Given the description of an element on the screen output the (x, y) to click on. 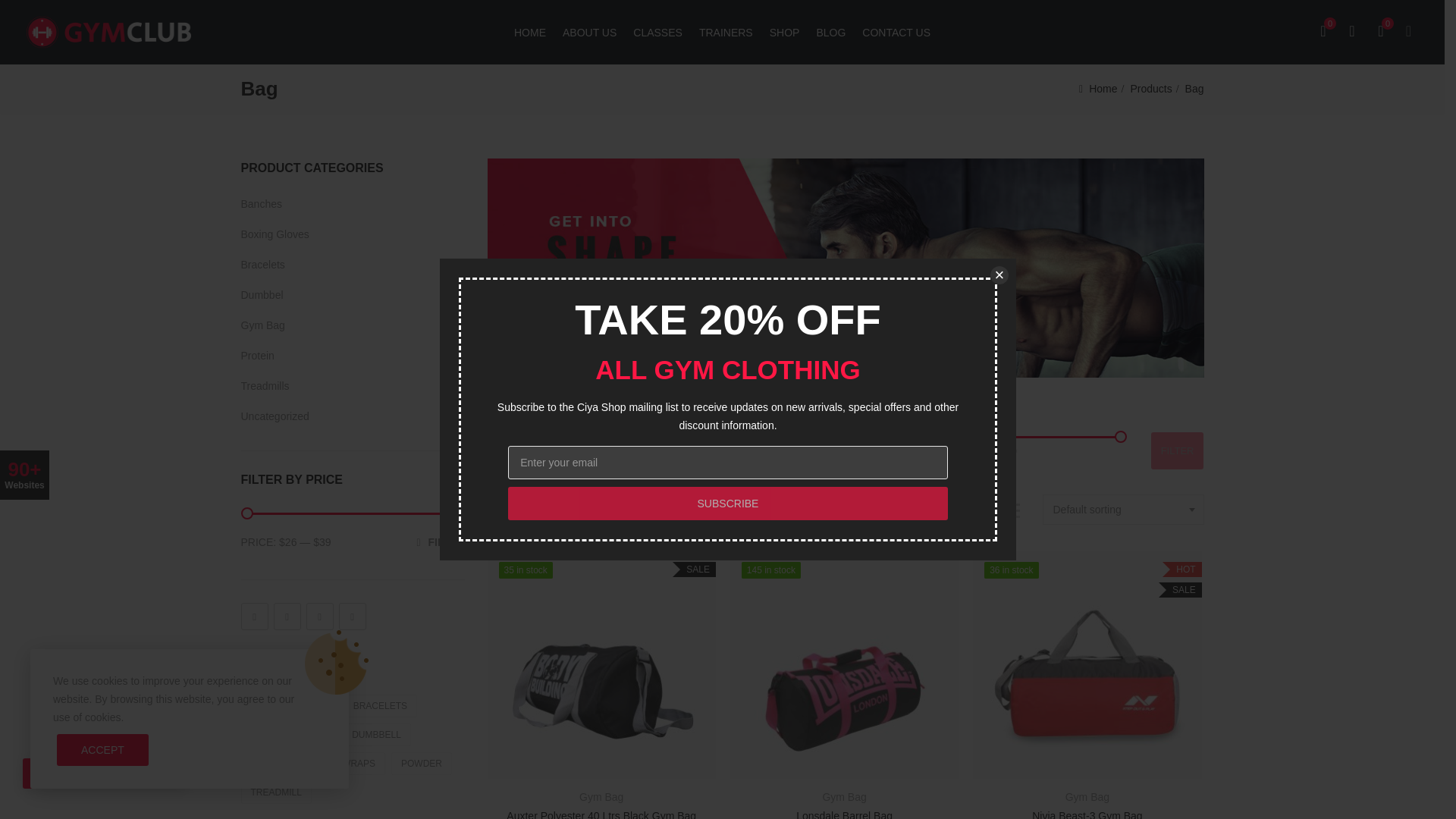
Default sorting (1124, 509)
SUBSCRIBE (727, 503)
Facebook (254, 615)
List view (1013, 510)
Home (1102, 88)
Vimeo (351, 615)
Grid view (944, 510)
Twitter (286, 615)
Grid view (991, 510)
Grid view (967, 510)
Dribbble (319, 615)
Products (1150, 88)
